Given the description of an element on the screen output the (x, y) to click on. 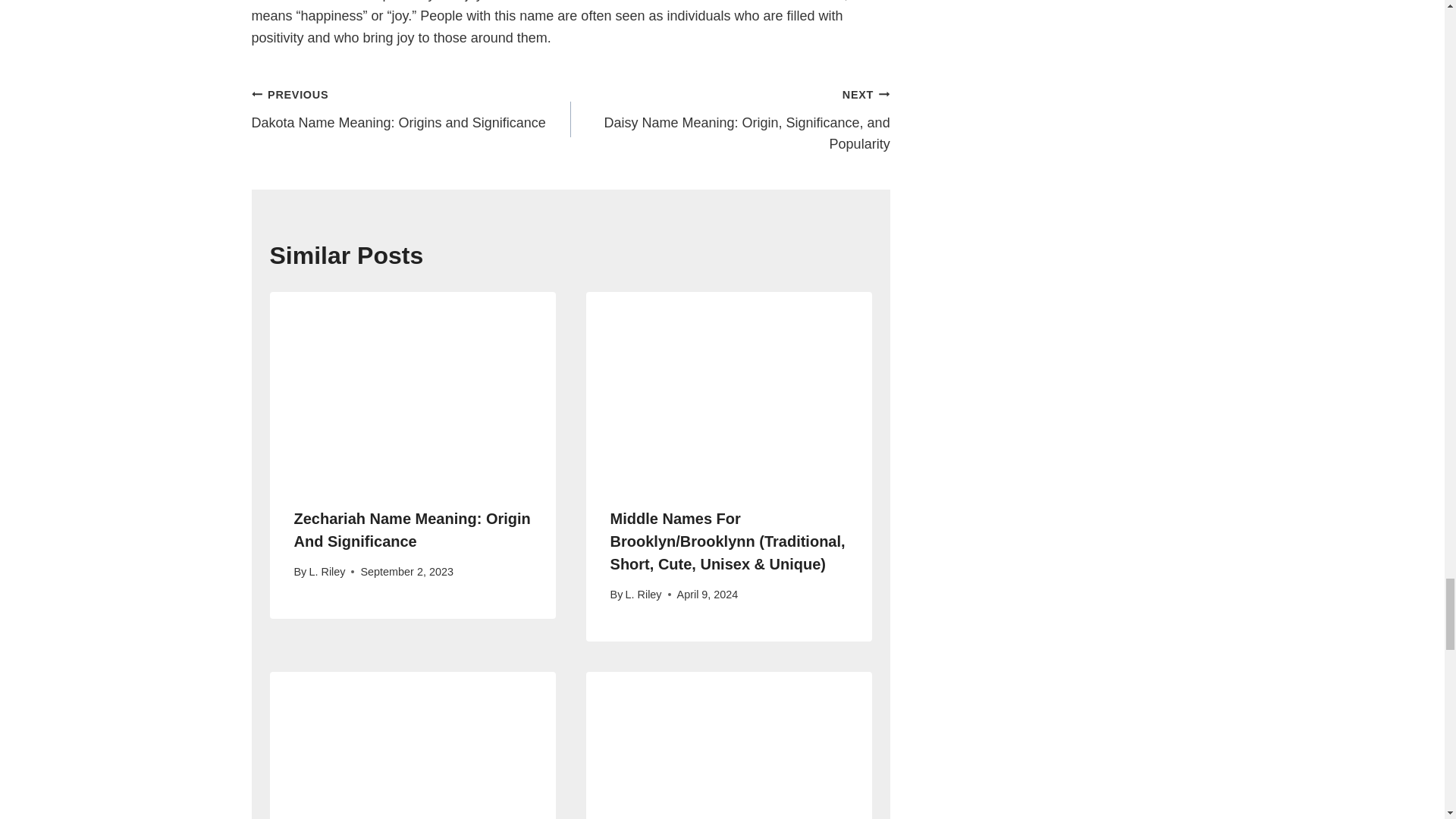
Zechariah Name Meaning: Origin and Significance 2 (412, 386)
L. Riley (644, 594)
L. Riley (326, 571)
Zechariah Name Meaning: Origin And Significance (410, 108)
